Given the description of an element on the screen output the (x, y) to click on. 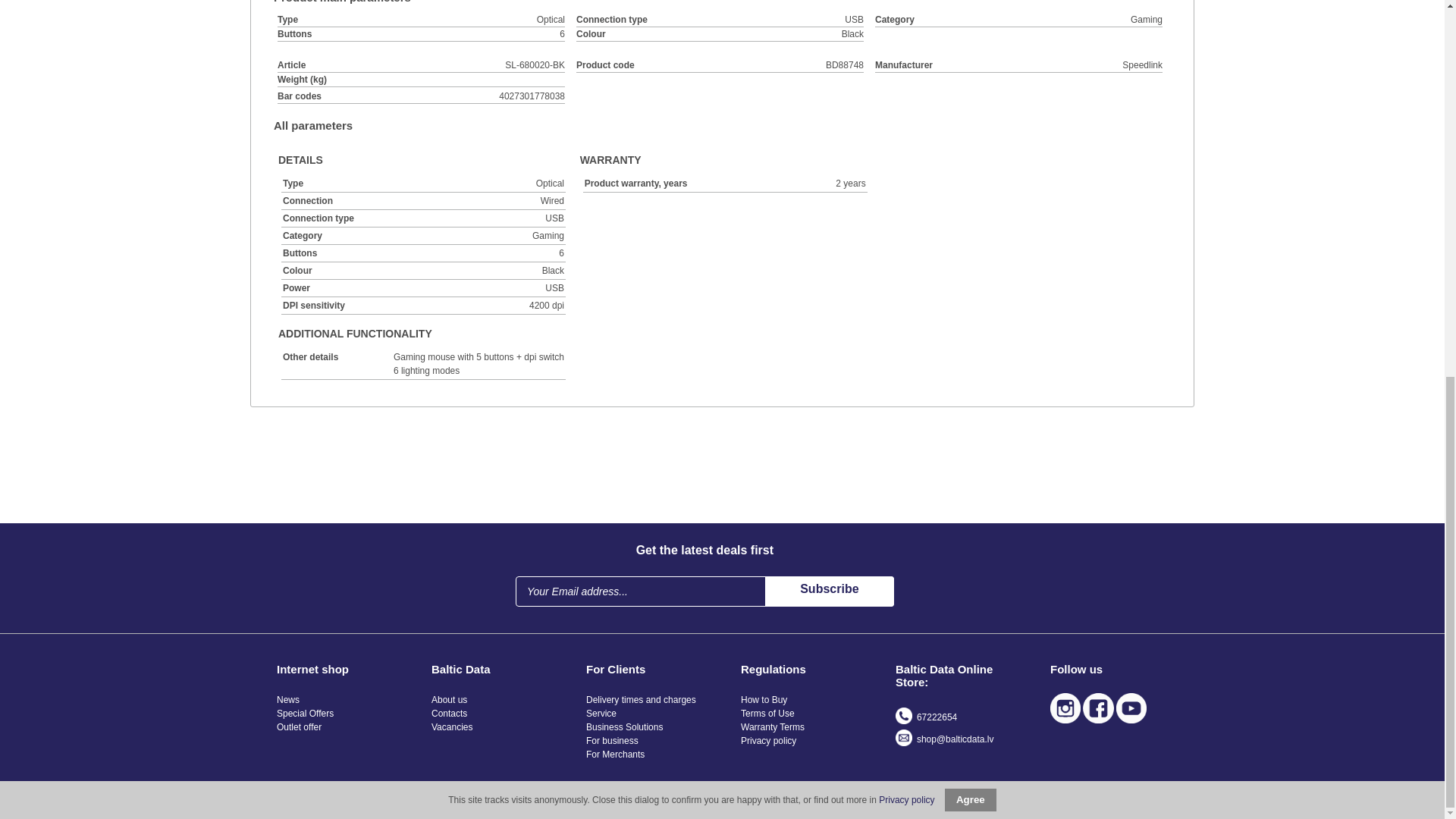
Agree (969, 105)
Privacy policy (906, 104)
